Given the description of an element on the screen output the (x, y) to click on. 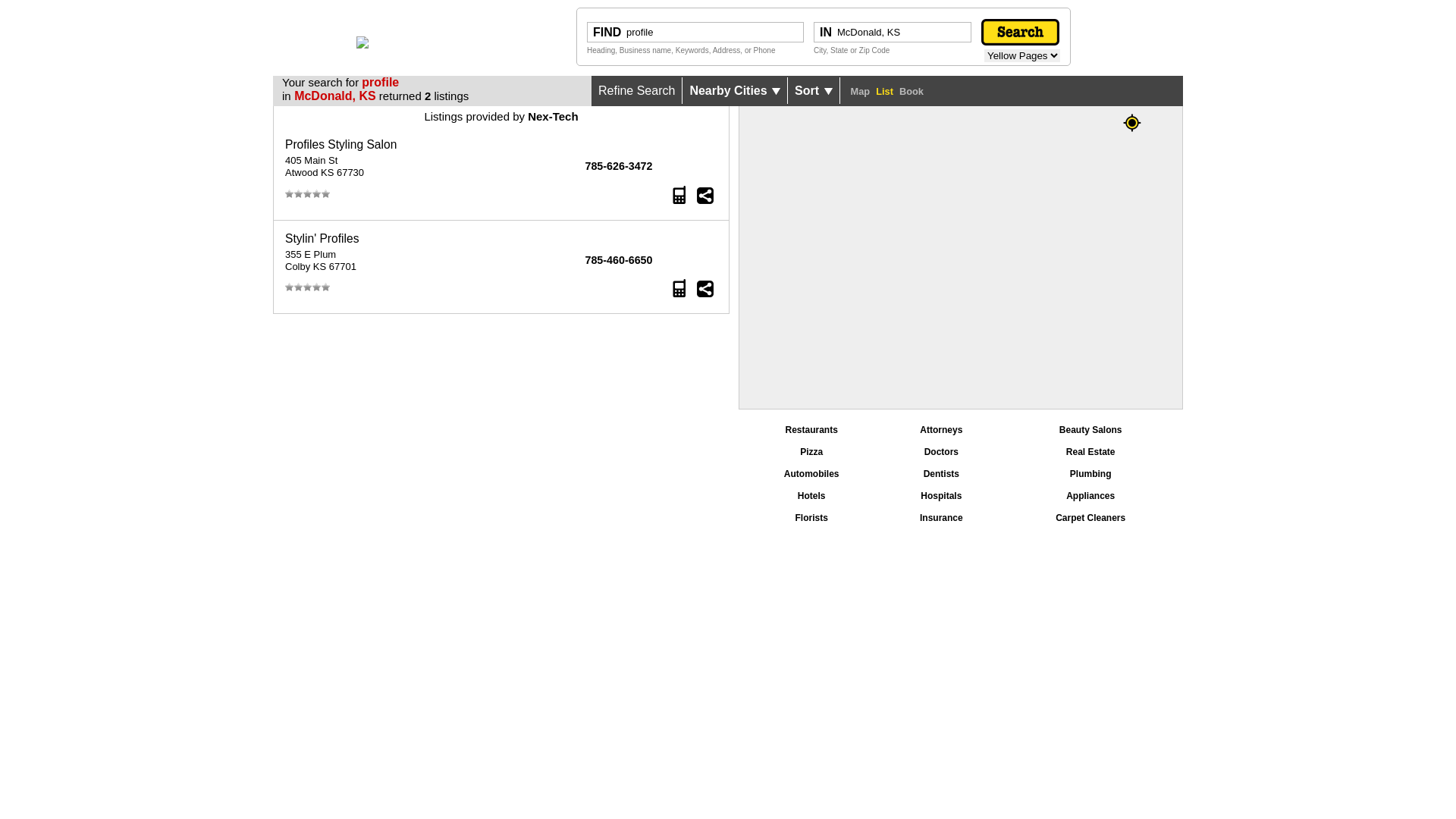
Book Element type: text (911, 87)
Real Estate Element type: text (1090, 451)
GPS/WiFi location Element type: hover (1132, 122)
Pizza Element type: text (811, 451)
Carpet Cleaners Element type: text (1090, 517)
Plumbing Element type: text (1090, 473)
Doctors Element type: text (941, 451)
Sort Element type: text (813, 90)
Map Element type: text (860, 87)
Stylin' Profiles Element type: text (321, 238)
Hotels Element type: text (811, 495)
Beauty Salons Element type: text (1090, 429)
Insurance Element type: text (941, 517)
Search Element type: hover (1020, 31)
Dentists Element type: text (941, 473)
Automobiles Element type: text (811, 473)
Profiles Styling Salon Element type: text (340, 144)
List Element type: text (884, 87)
DPS Element type: hover (362, 43)
Nex-Tech Element type: text (552, 115)
Nearby Cities Element type: text (734, 90)
Review this business Element type: hover (307, 193)
Restaurants Element type: text (810, 429)
Florists Element type: text (810, 517)
Attorneys Element type: text (940, 429)
Hospitals Element type: text (940, 495)
Review this business Element type: hover (307, 287)
Appliances Element type: text (1090, 495)
